Given the description of an element on the screen output the (x, y) to click on. 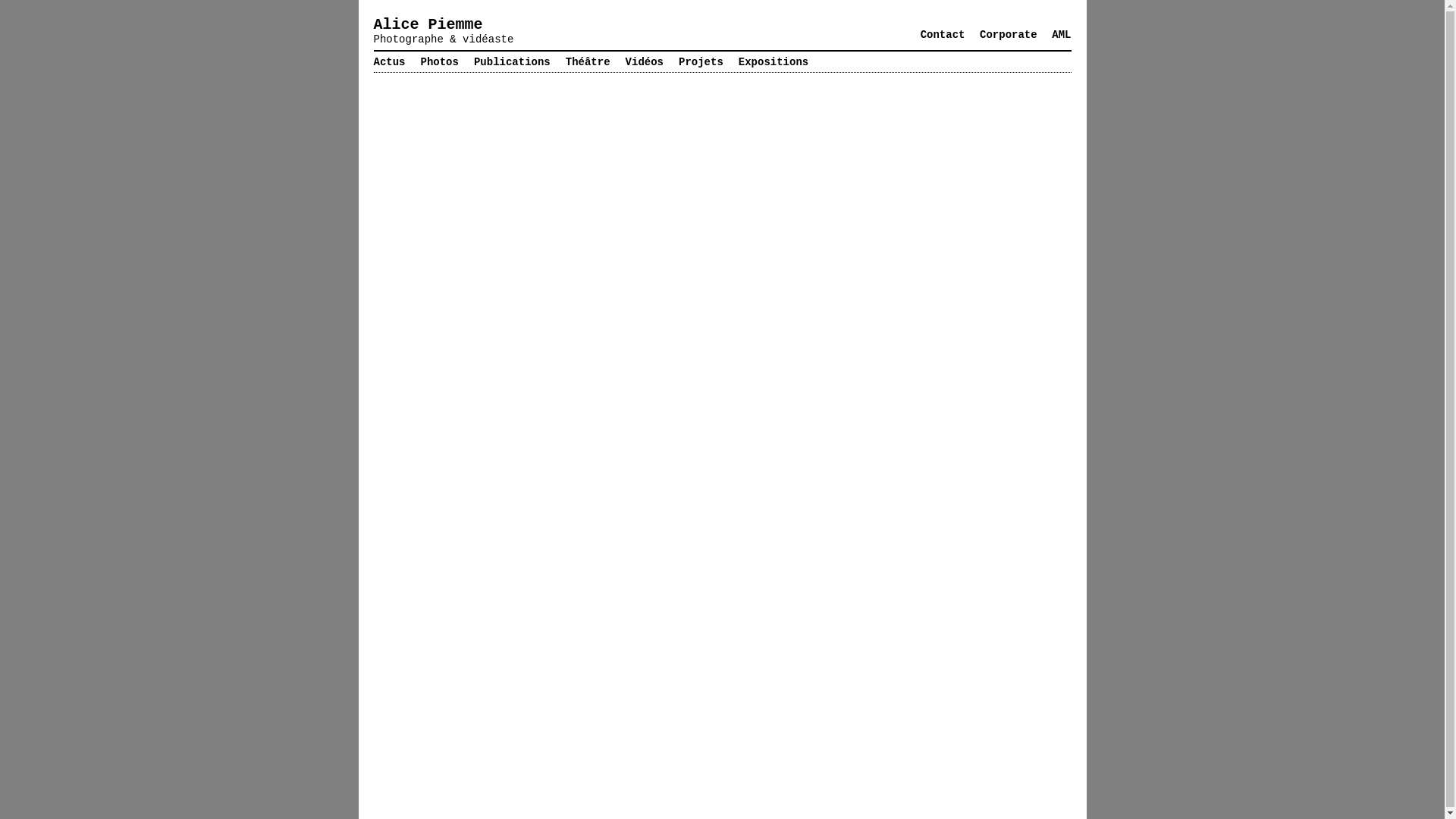
Expositions Element type: text (773, 62)
Alice Piemme Element type: text (427, 24)
Corporate Element type: text (1008, 34)
Contact Element type: text (942, 34)
Photos Element type: text (439, 62)
Publications Element type: text (511, 62)
Projets Element type: text (700, 62)
AML Element type: text (1060, 34)
Actus Element type: text (388, 62)
